Given the description of an element on the screen output the (x, y) to click on. 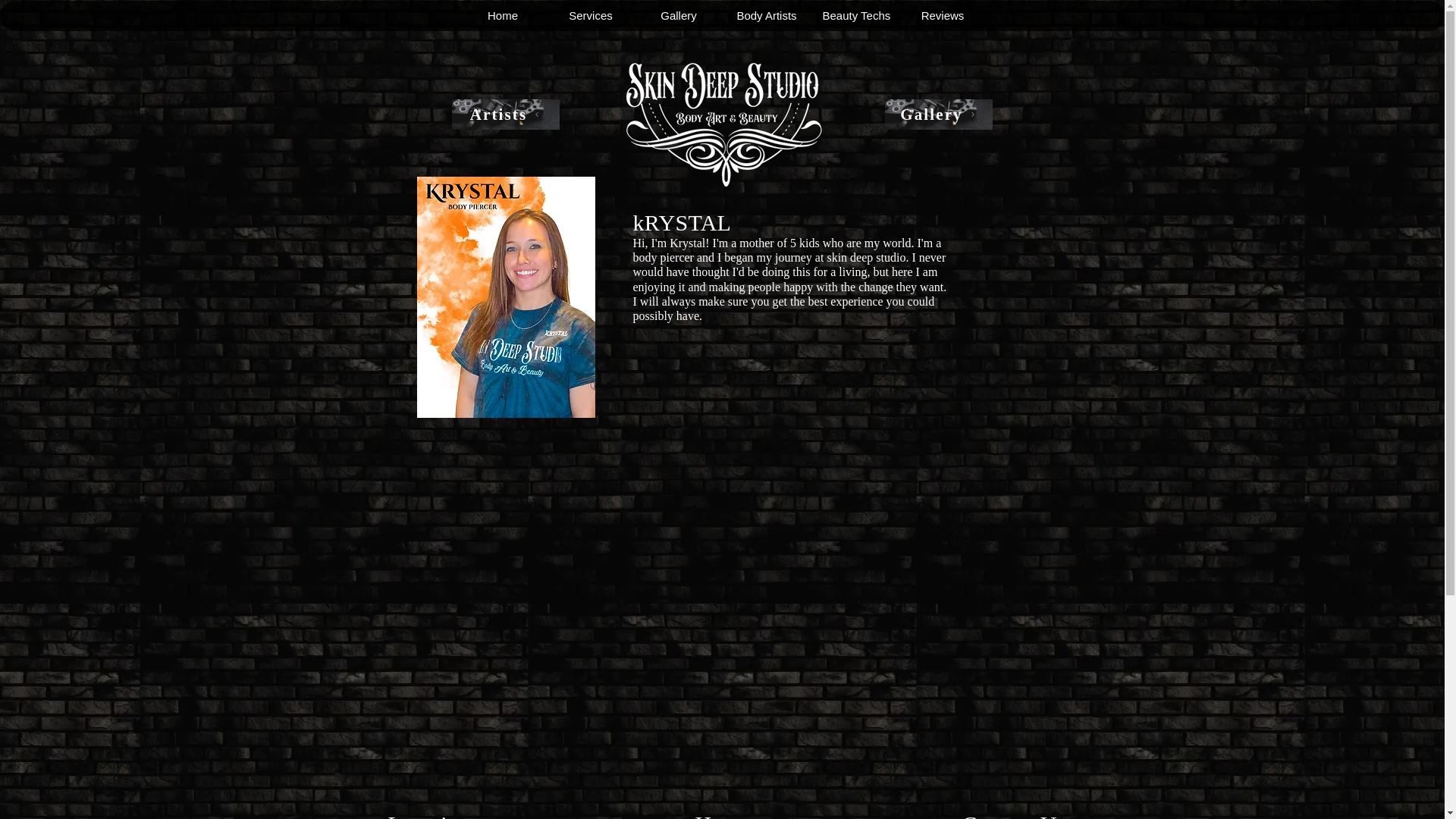
Reviews (941, 15)
Artists (505, 114)
Gallery (937, 114)
Home (502, 15)
Gallery (677, 15)
Services (589, 15)
Beauty Techs (853, 15)
Body Artists (765, 15)
